Given the description of an element on the screen output the (x, y) to click on. 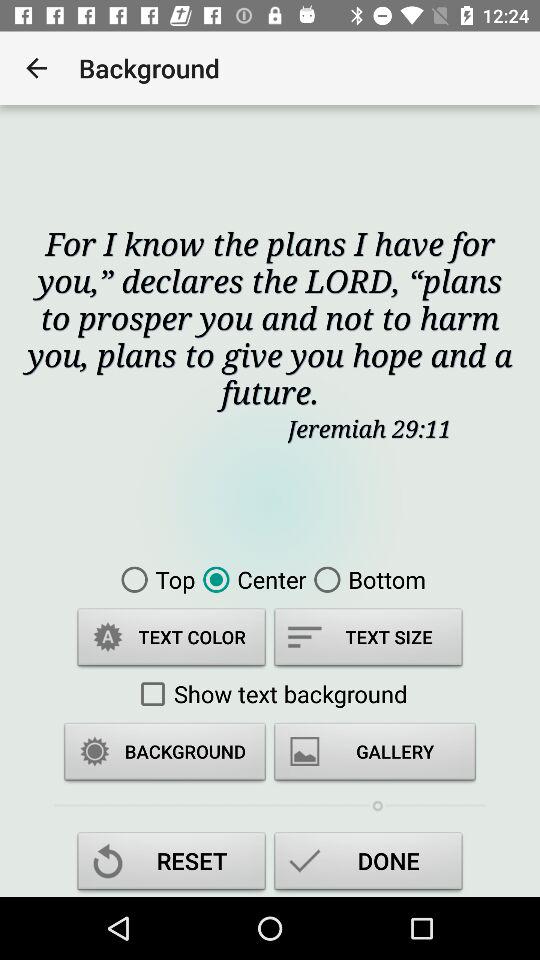
choose icon to the left of bottom icon (250, 579)
